Given the description of an element on the screen output the (x, y) to click on. 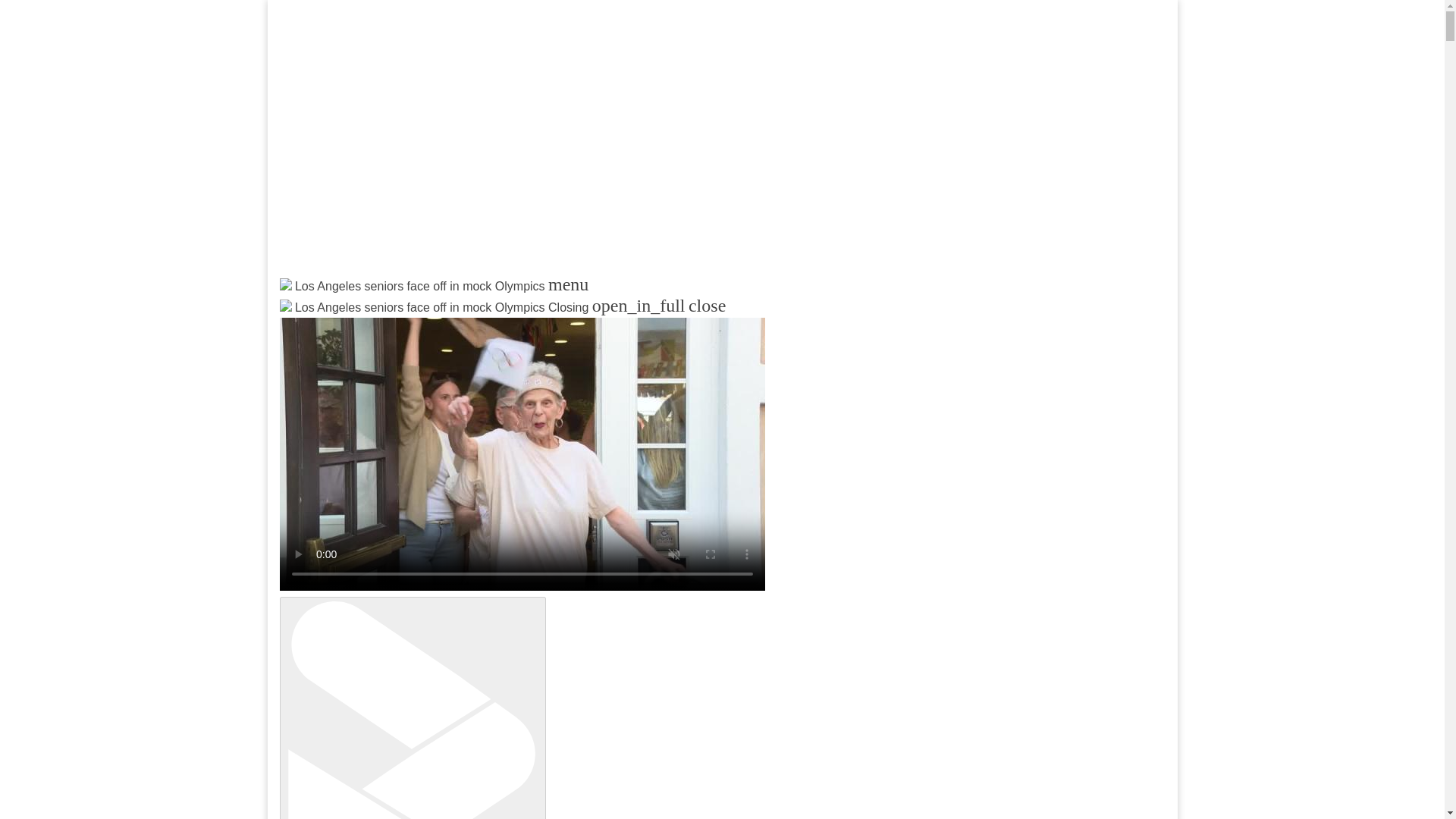
Skope Entertainment Inc (462, 323)
Skope Entertainment Inc (462, 323)
YouTube video player (478, 149)
